Given the description of an element on the screen output the (x, y) to click on. 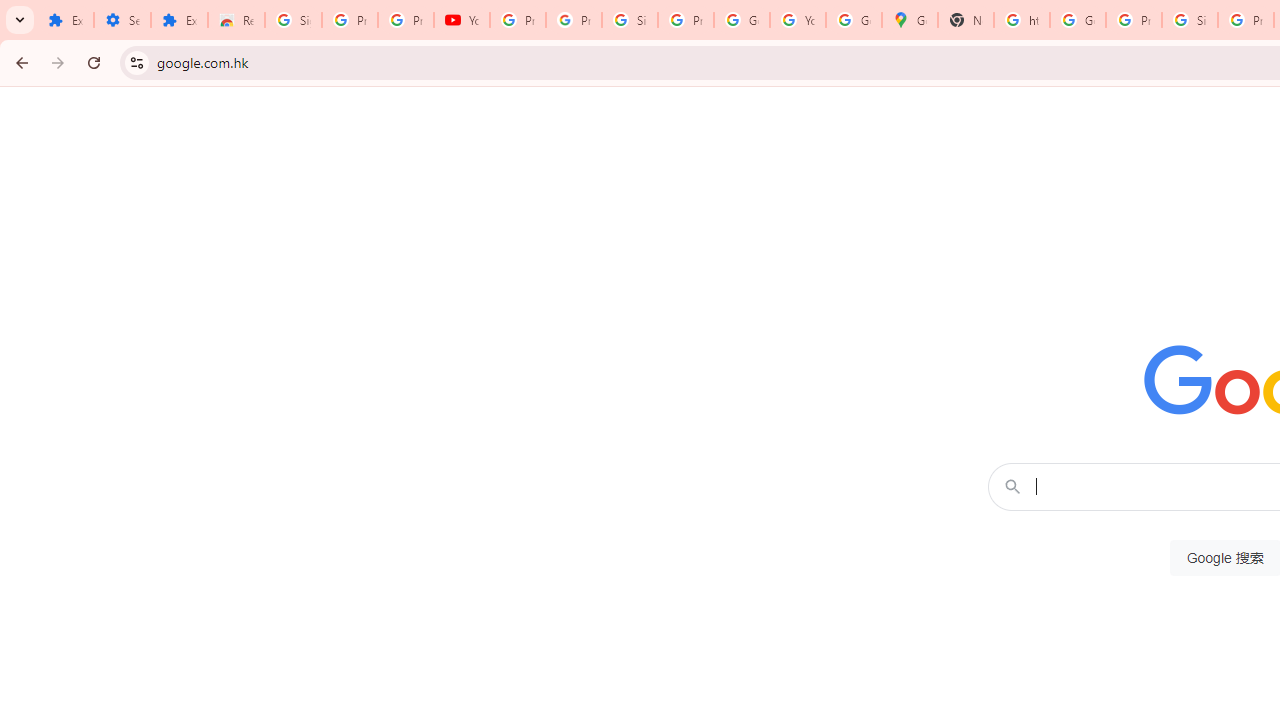
Google Account (742, 20)
Google Maps (909, 20)
Extensions (65, 20)
New Tab (966, 20)
